Given the description of an element on the screen output the (x, y) to click on. 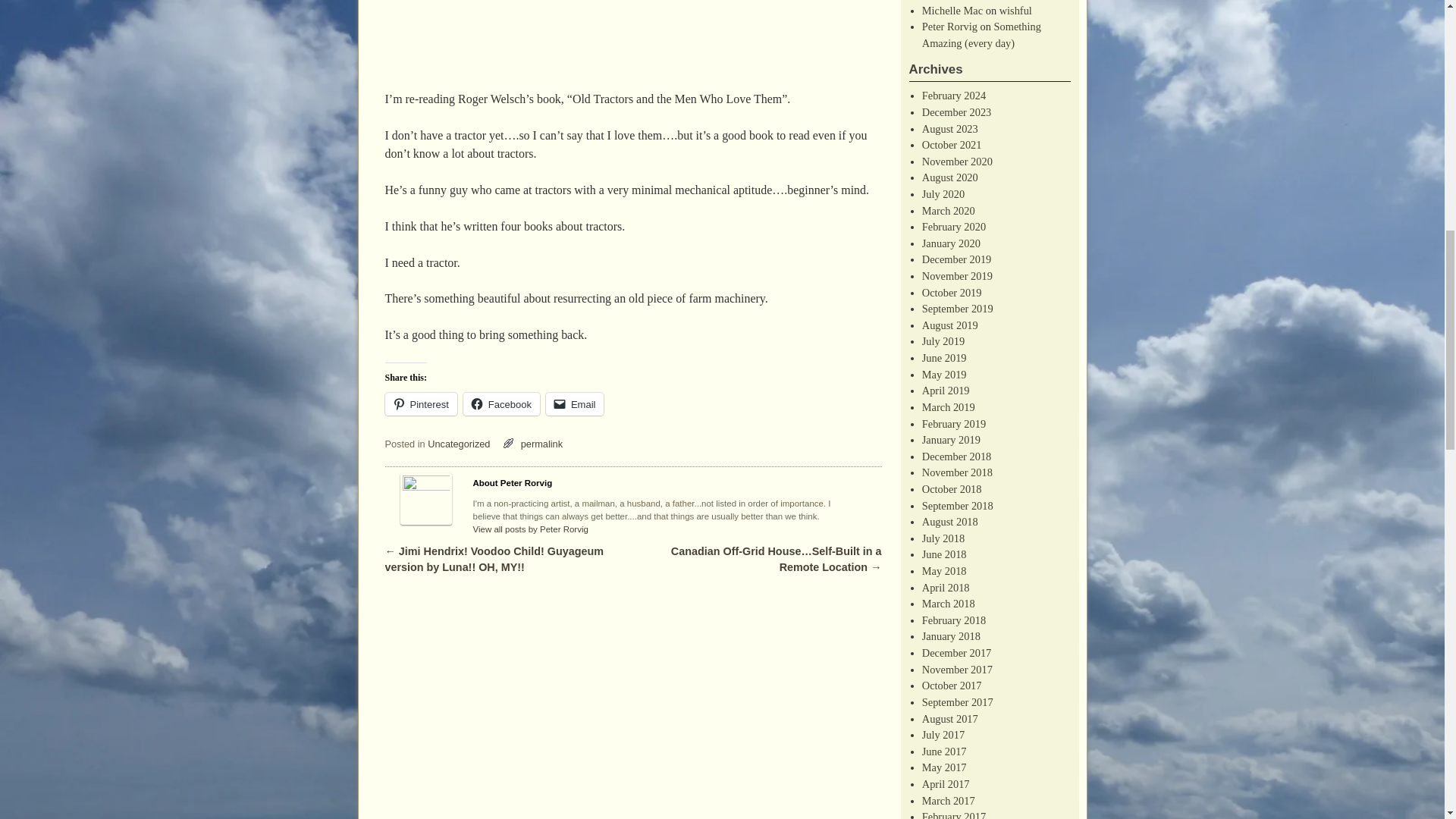
Pinterest (421, 404)
Michelle Mac (951, 10)
Click to share on Pinterest (421, 404)
February 2024 (953, 95)
October 2021 (951, 144)
Click to share on Facebook (501, 404)
Email (575, 404)
December 2023 (956, 111)
Uncategorized (458, 443)
View all posts by Peter Rorvig (530, 528)
wishful (1015, 10)
August 2023 (949, 128)
Peter Rorvig (948, 26)
Click to email a link to a friend (575, 404)
Facebook (501, 404)
